Given the description of an element on the screen output the (x, y) to click on. 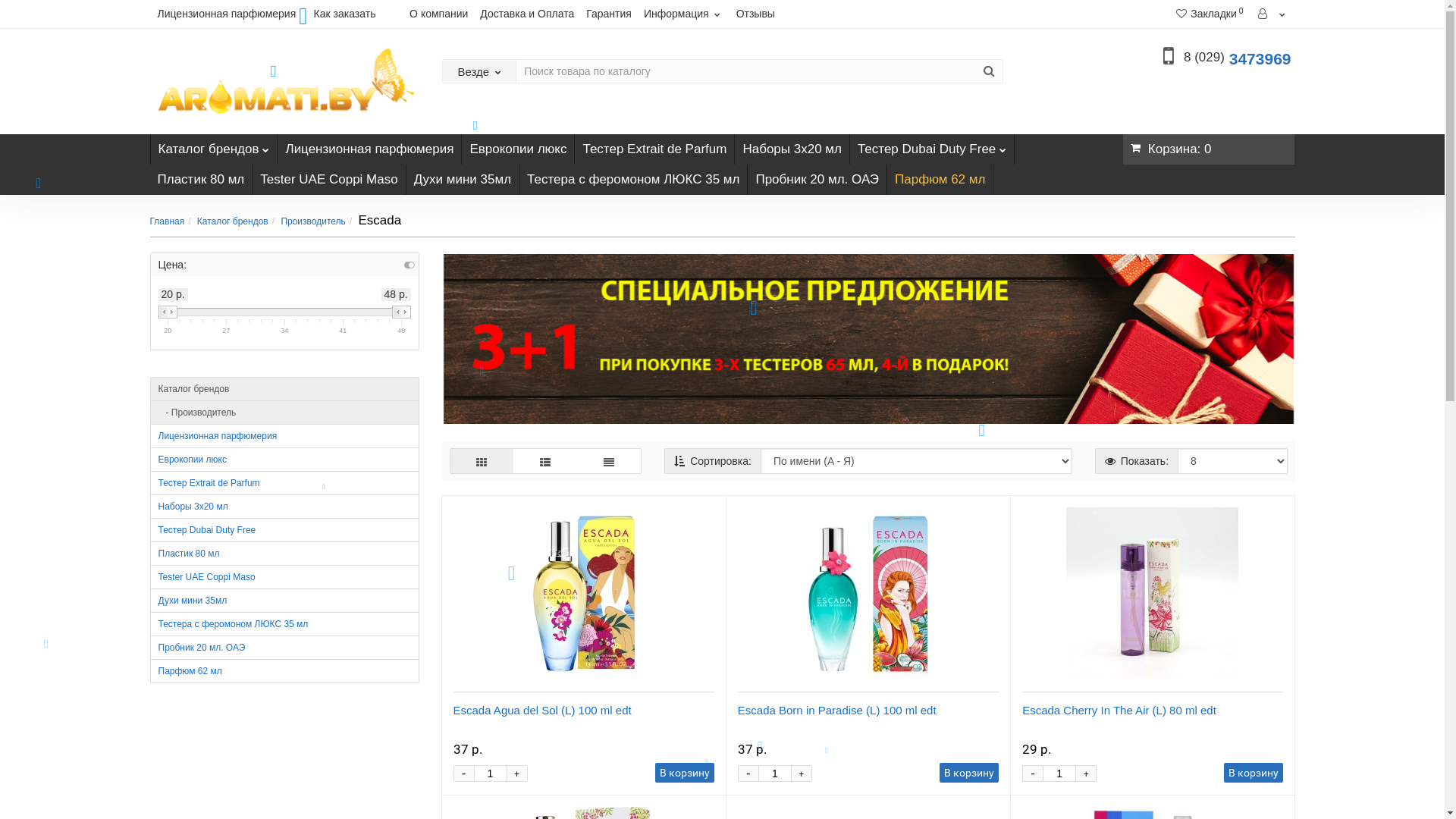
- Element type: text (463, 773)
Tester UAE Coppi Maso Element type: text (284, 576)
Escada Born in Paradise (L) 100 ml edt Element type: hover (867, 593)
+ Element type: text (516, 773)
Escada Agua del Sol (L) 100 ml edt Element type: text (542, 709)
- Element type: text (748, 773)
+ Element type: text (801, 773)
- Element type: text (1032, 773)
8 (029) 3473969 Element type: text (1236, 58)
+ Element type: text (1085, 773)
Escada Cherry In The Air (L) 80 ml edt Element type: hover (1152, 593)
Escada Cherry In The Air (L) 80 ml edt Element type: text (1119, 709)
Escada Agua del Sol (L) 100 ml edt Element type: hover (583, 593)
Tester UAE Coppi Maso Element type: text (328, 178)
Escada Born in Paradise (L) 100 ml edt Element type: text (836, 709)
